Given the description of an element on the screen output the (x, y) to click on. 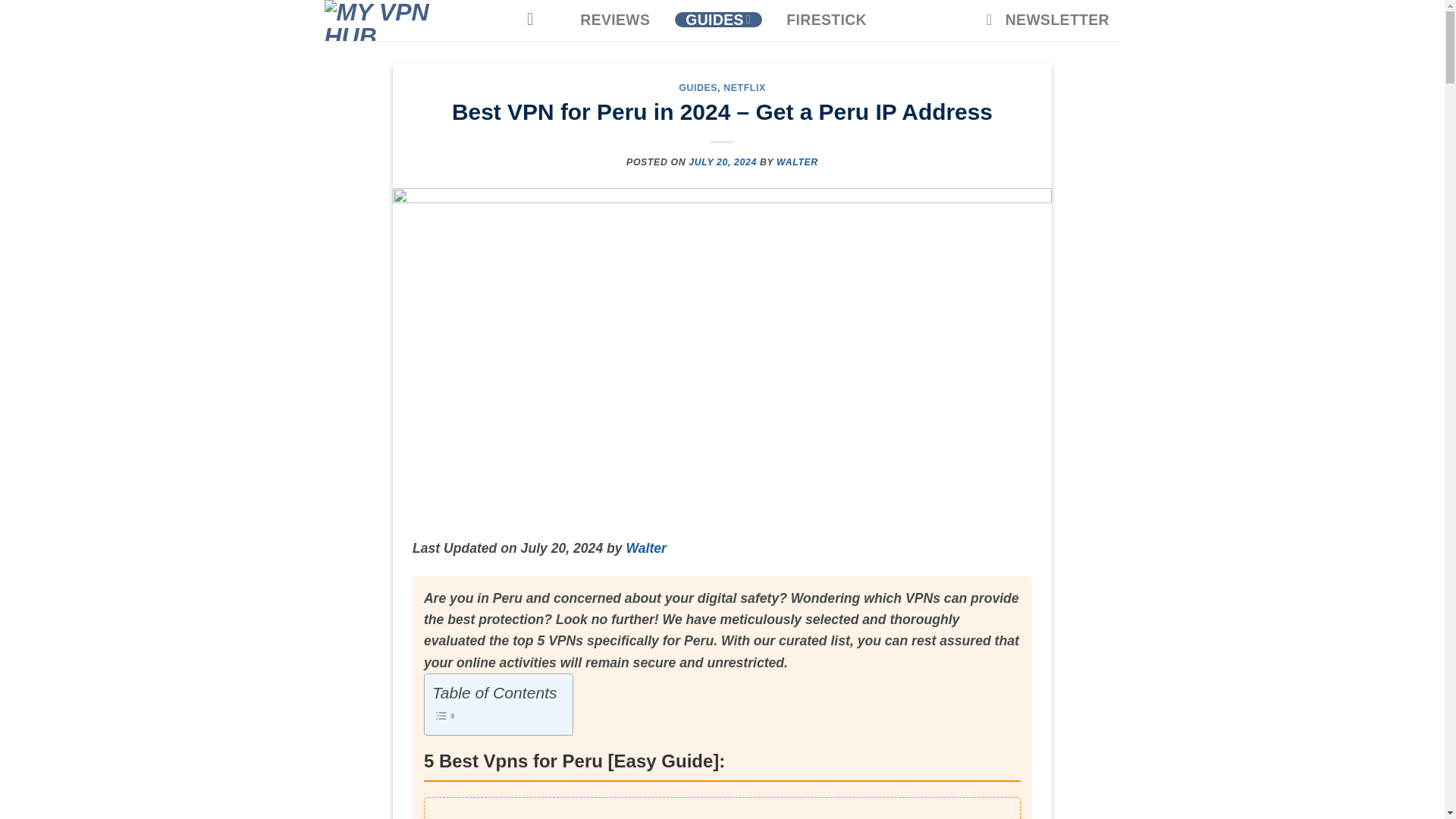
JULY 20, 2024 (722, 162)
FIRESTICK (826, 19)
NEWSLETTER (1047, 19)
NETFLIX (744, 87)
GUIDES (718, 19)
REVIEWS (615, 19)
WALTER (797, 162)
GUIDES (697, 87)
Sign up for Newsletter (1047, 19)
Walter (646, 548)
